Given the description of an element on the screen output the (x, y) to click on. 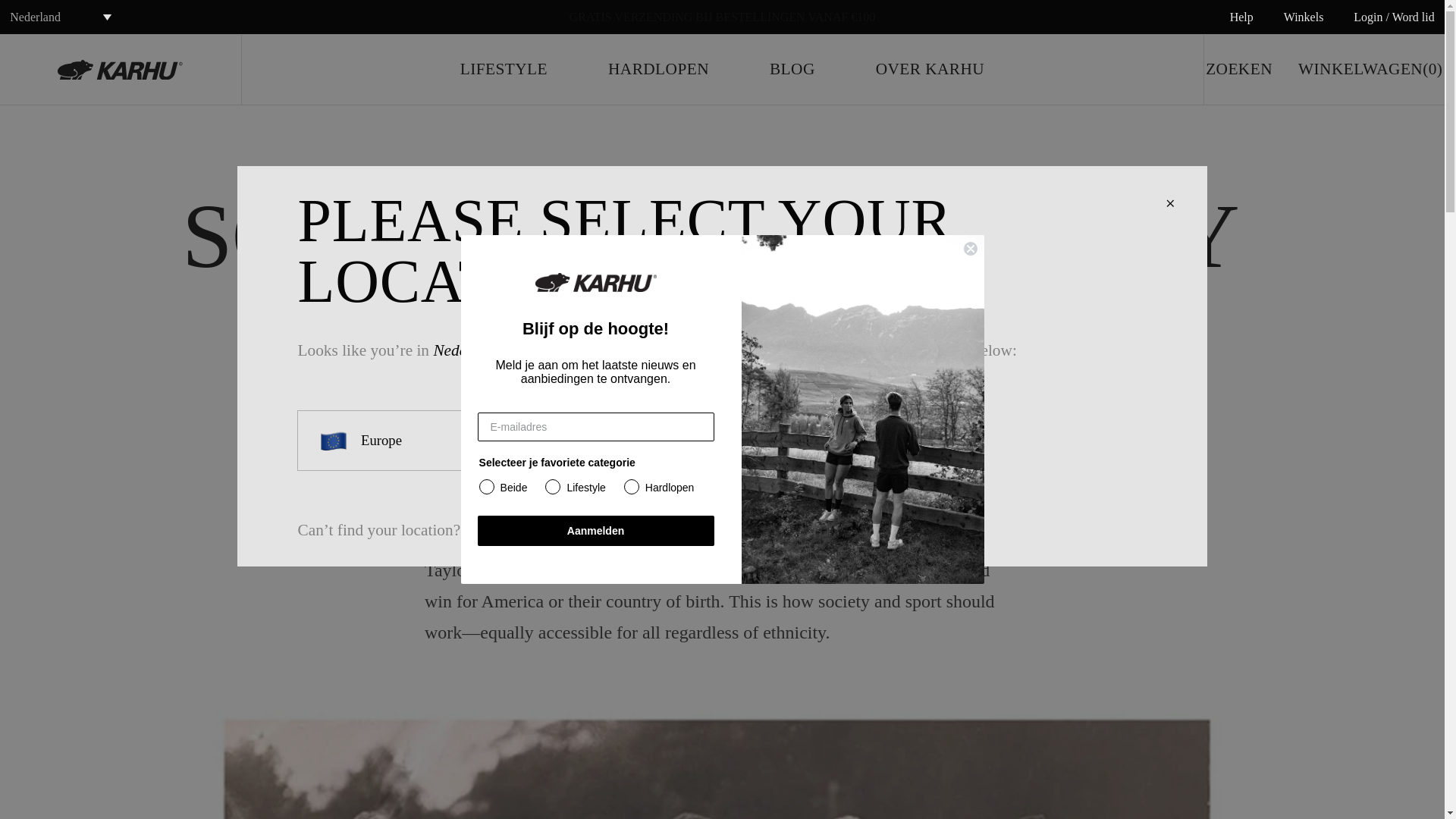
ZOEKEN (1238, 69)
OVER KARHU (930, 69)
HARDLOPEN (658, 69)
Close dialog 1 (970, 248)
BLOG (792, 69)
LIFESTYLE (503, 69)
Winkels (1303, 16)
Help (1241, 16)
